Given the description of an element on the screen output the (x, y) to click on. 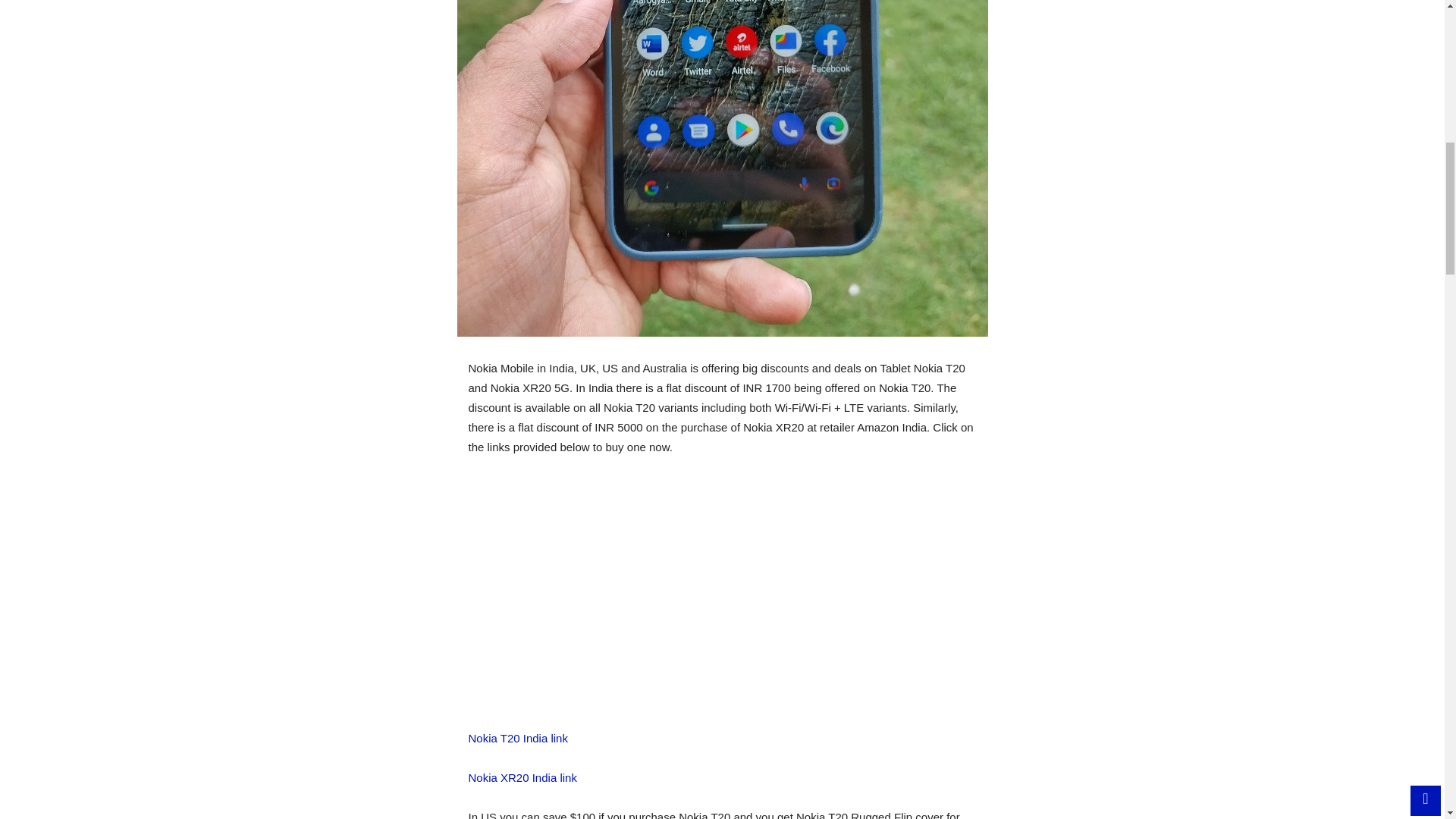
Nokia XR20 India link (522, 777)
Nokia T20 India link (517, 738)
3rd party ad content (722, 600)
